Given the description of an element on the screen output the (x, y) to click on. 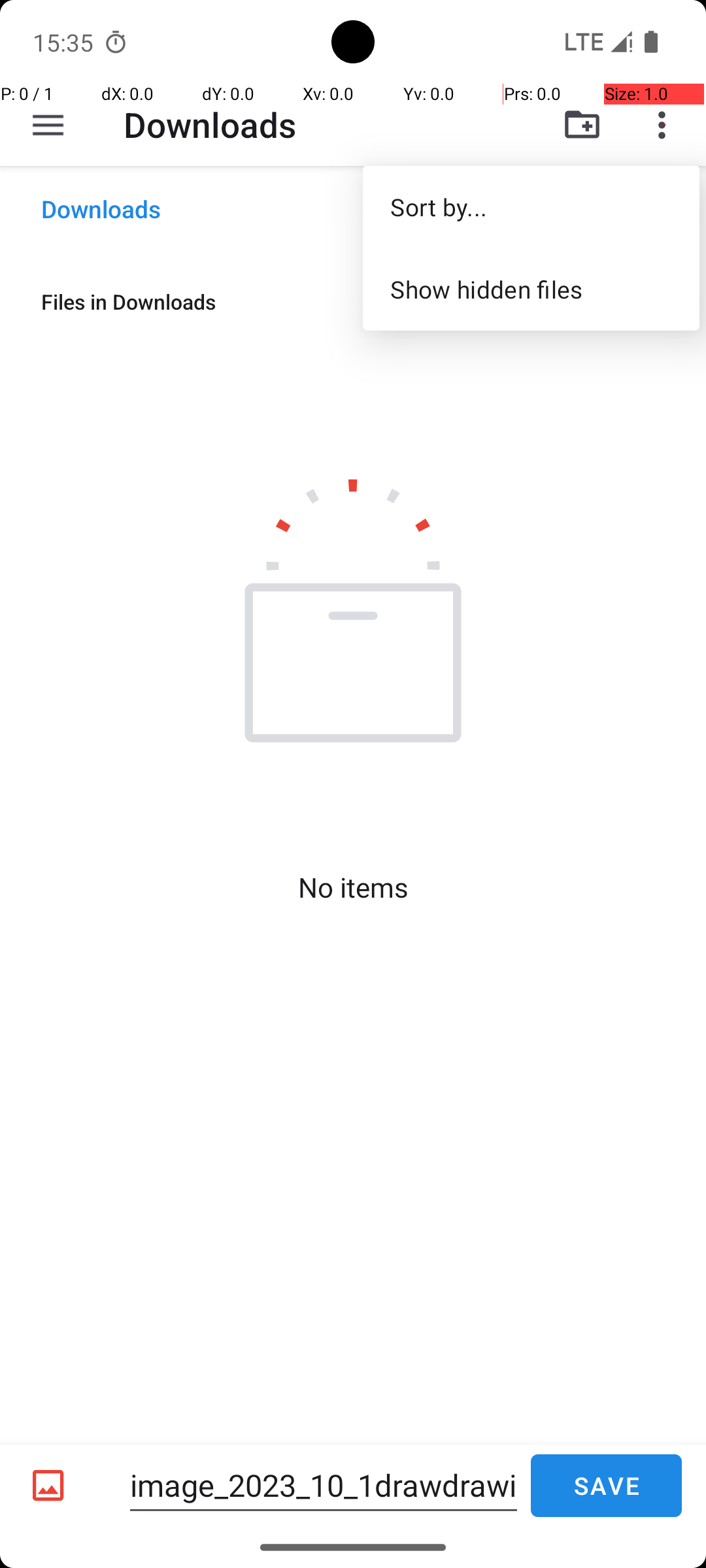
Show hidden files Element type: android.widget.TextView (531, 288)
